Given the description of an element on the screen output the (x, y) to click on. 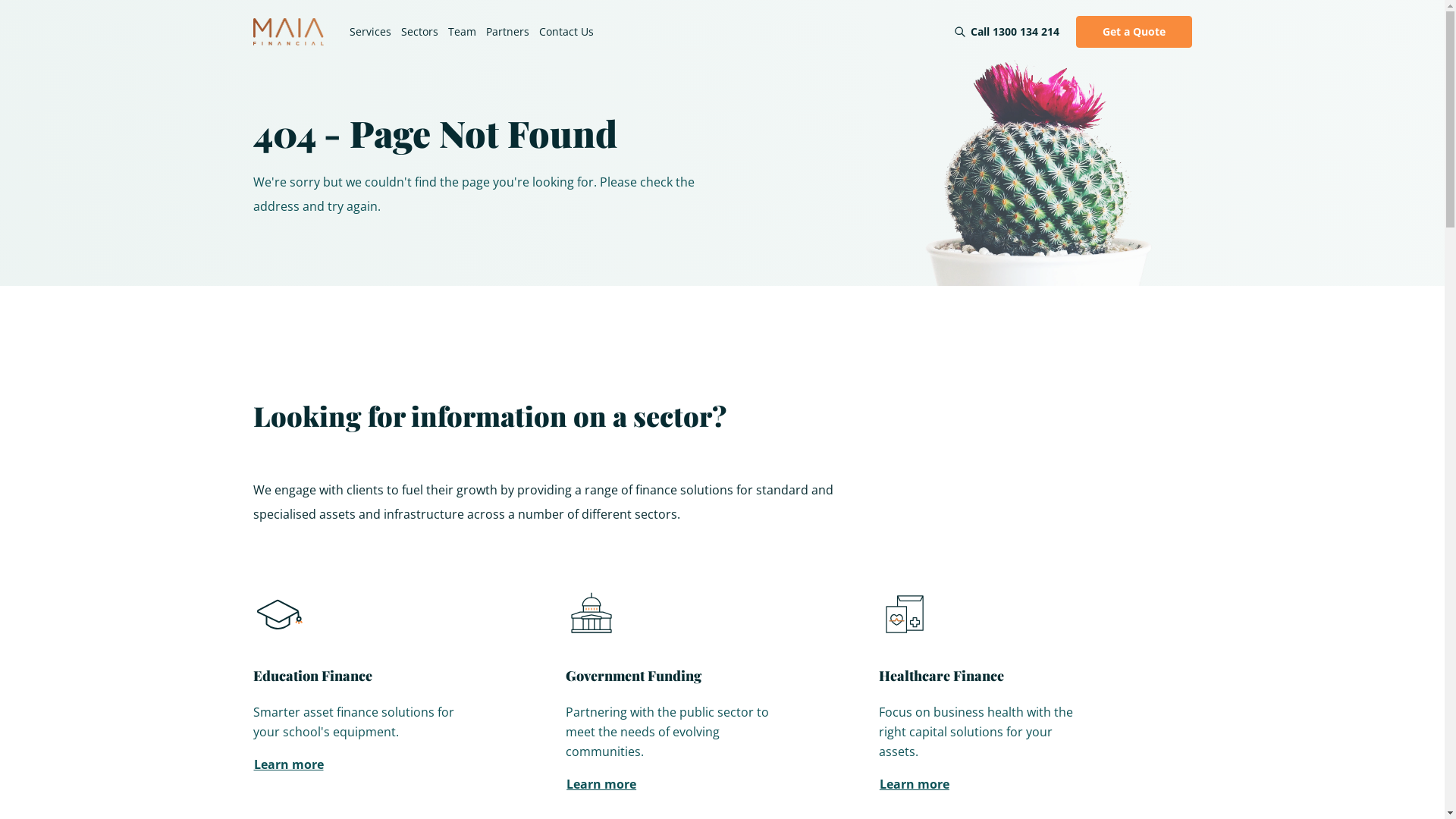
Partners Element type: text (506, 31)
  Element type: text (1218, 730)
Government Funding Element type: text (633, 675)
Contact Us Element type: text (565, 31)
  Element type: text (591, 603)
Team Element type: text (461, 31)
Call 1300 134 214 Element type: text (1014, 31)
Food and Agribusiness Finance Element type: text (1292, 803)
Education Finance Element type: text (312, 675)
Services Element type: text (369, 31)
Healthcare Finance Element type: text (941, 675)
Sectors Element type: text (418, 31)
  Element type: text (904, 603)
Learn more Element type: text (601, 783)
Learn more Element type: text (288, 764)
Get a Quote Element type: text (1133, 31)
  Element type: text (279, 603)
Learn more Element type: text (914, 783)
